Given the description of an element on the screen output the (x, y) to click on. 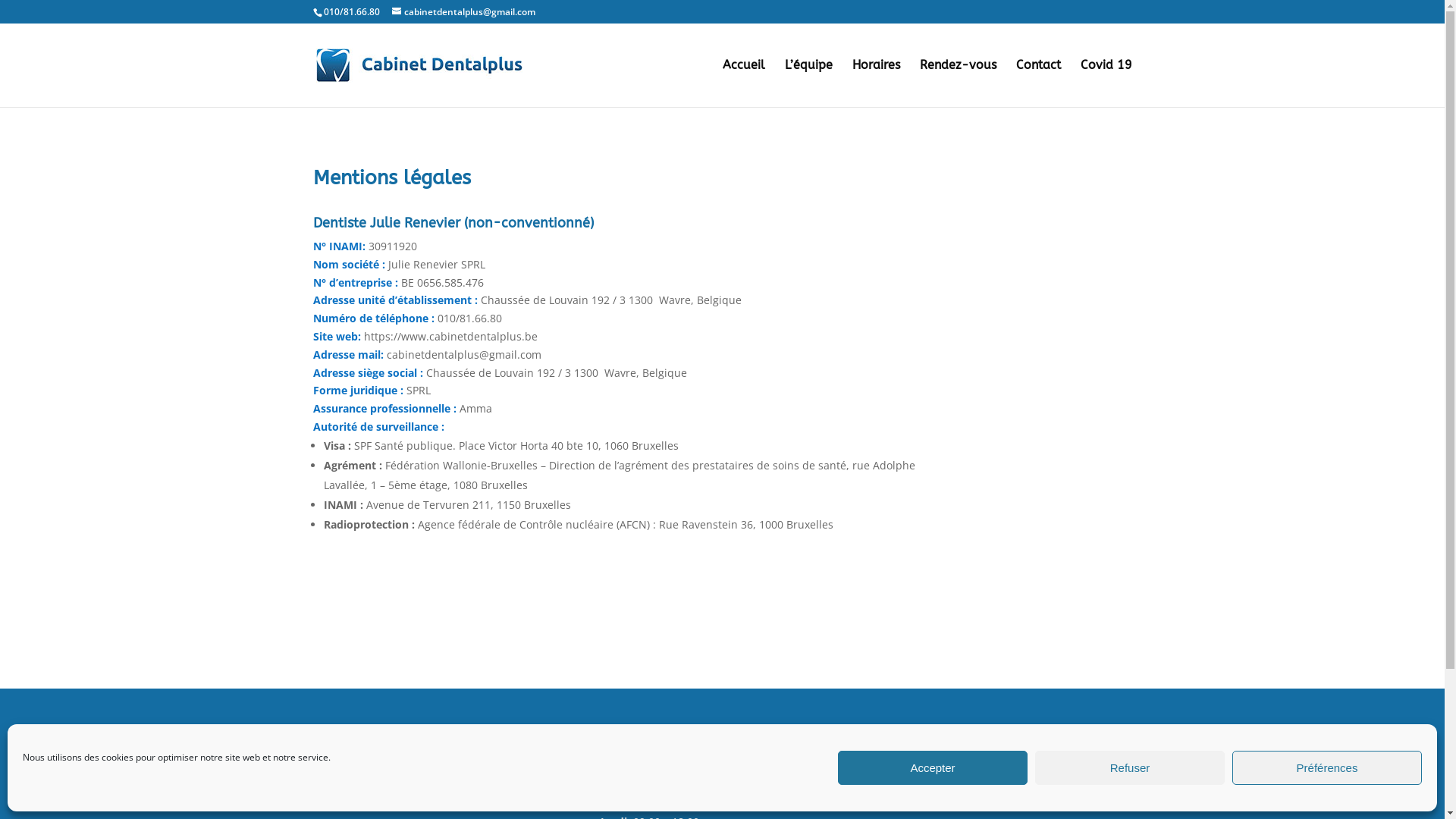
Accueil Element type: text (742, 82)
Covid 19 Element type: text (1105, 82)
Rendez-vous Element type: text (957, 82)
Contact Element type: text (1038, 82)
Horaires Element type: text (876, 82)
Accepter Element type: text (932, 767)
cabinetdentalplus@gmail.com Element type: text (462, 11)
Refuser Element type: text (1129, 767)
